Given the description of an element on the screen output the (x, y) to click on. 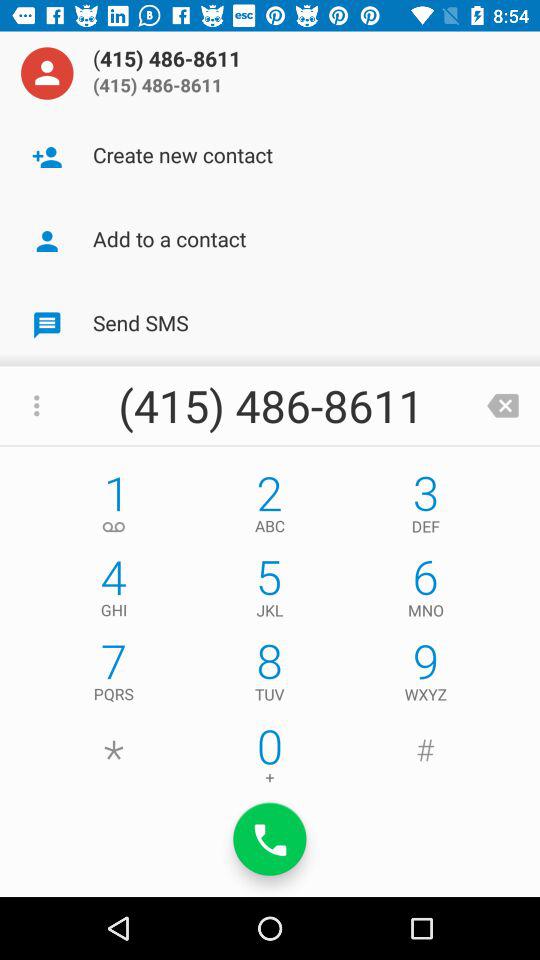
turn off the icon next to the (415) 486-8611 icon (503, 405)
